Given the description of an element on the screen output the (x, y) to click on. 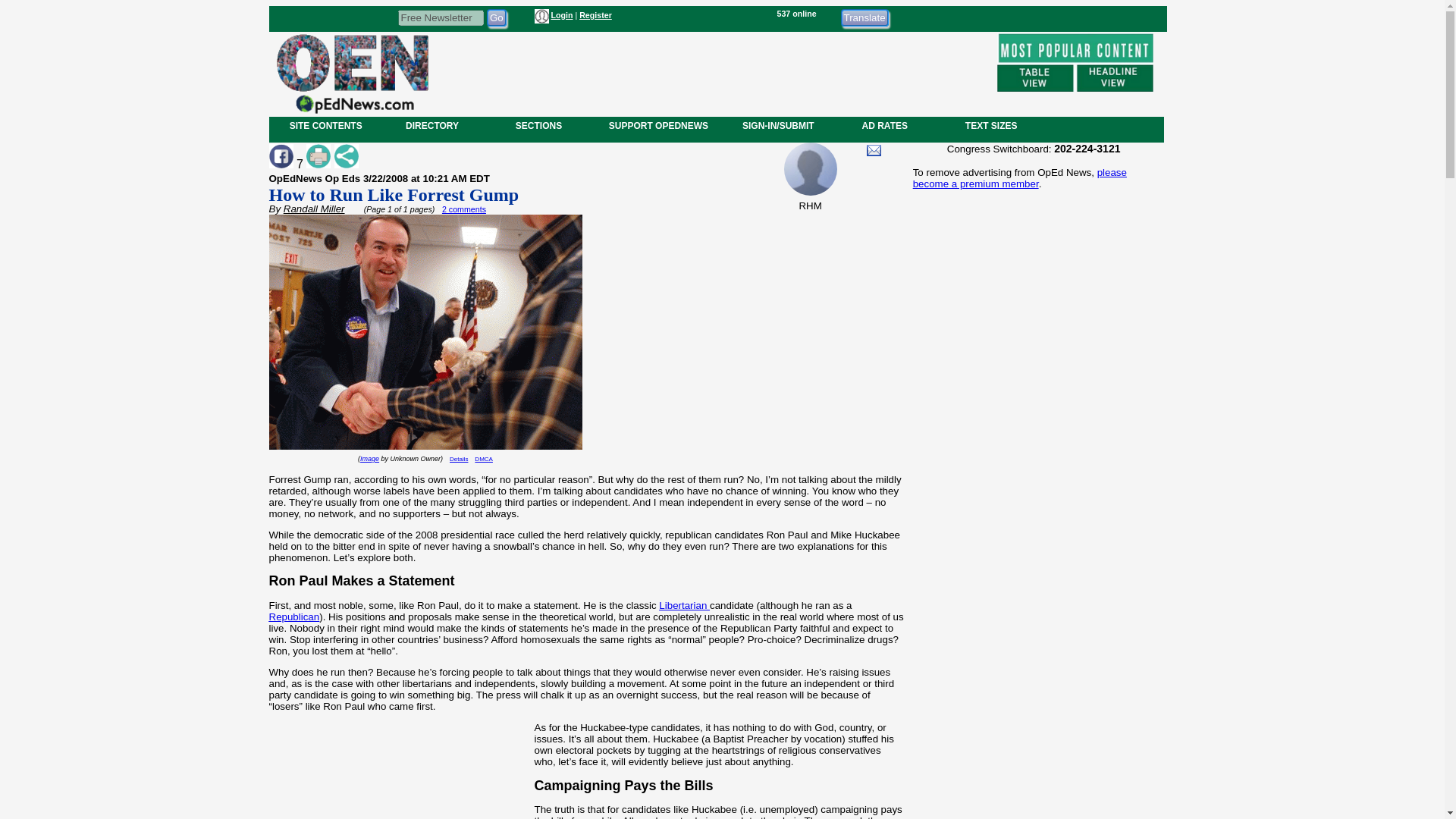
Translate (864, 17)
Randall Miller (314, 208)
Register (595, 14)
SUPPORT OPEDNEWS (658, 125)
Share on Facebook (279, 156)
Advertisement (397, 776)
Translate (864, 17)
Image (368, 458)
Go (496, 17)
Printer Friendly Page (317, 156)
Message Randall Miller (873, 150)
DIRECTORY (431, 125)
Details (458, 458)
Advertisement (1032, 702)
Login (561, 14)
